Given the description of an element on the screen output the (x, y) to click on. 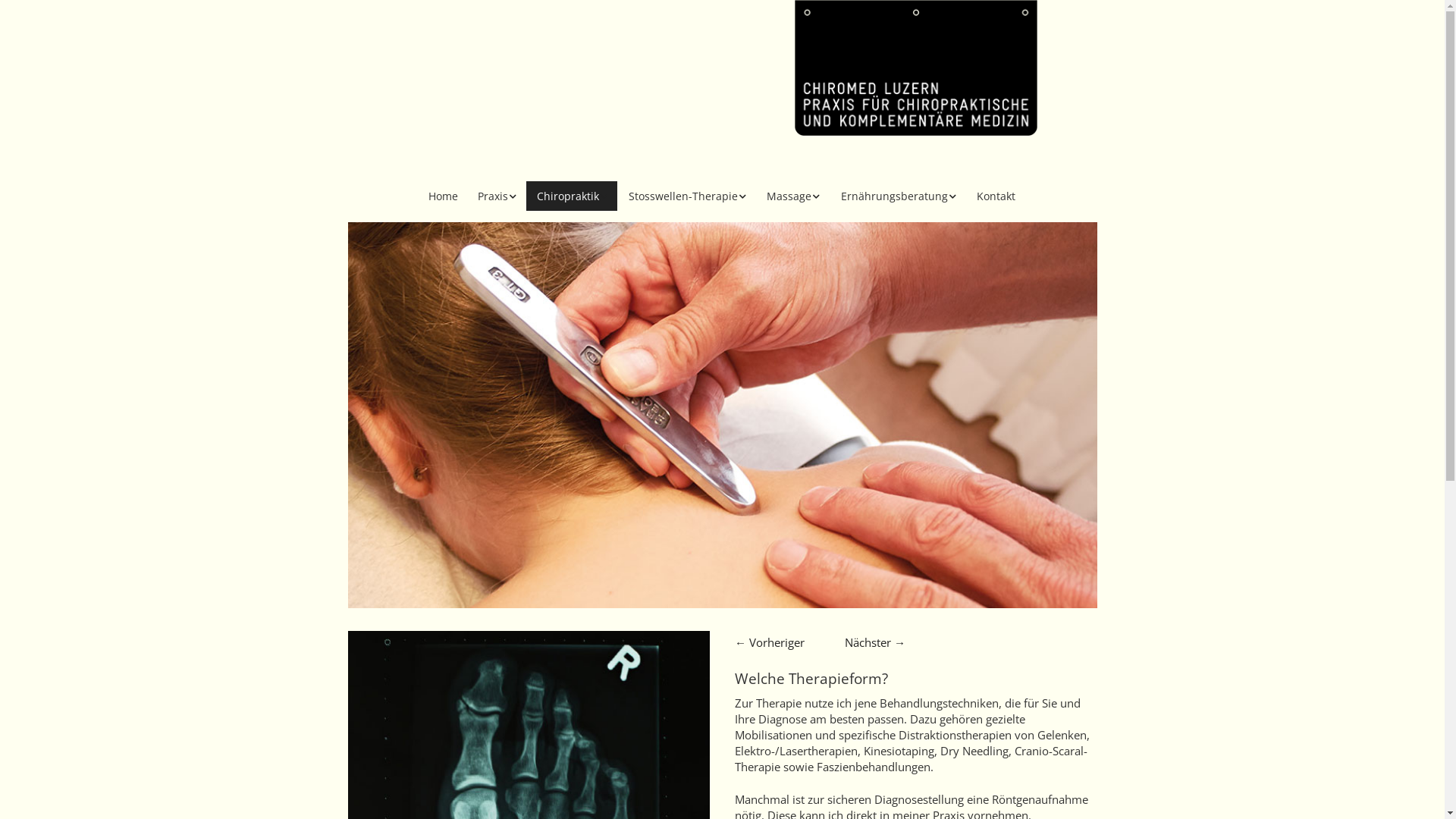
Massage Element type: text (793, 196)
Vorheriger    Element type: text (773, 641)
Chiropraktik Element type: text (571, 196)
Praxis Element type: text (496, 196)
Home Element type: text (442, 196)
Kontakt Element type: text (995, 196)
Stosswellen-Therapie Element type: text (686, 196)
